Given the description of an element on the screen output the (x, y) to click on. 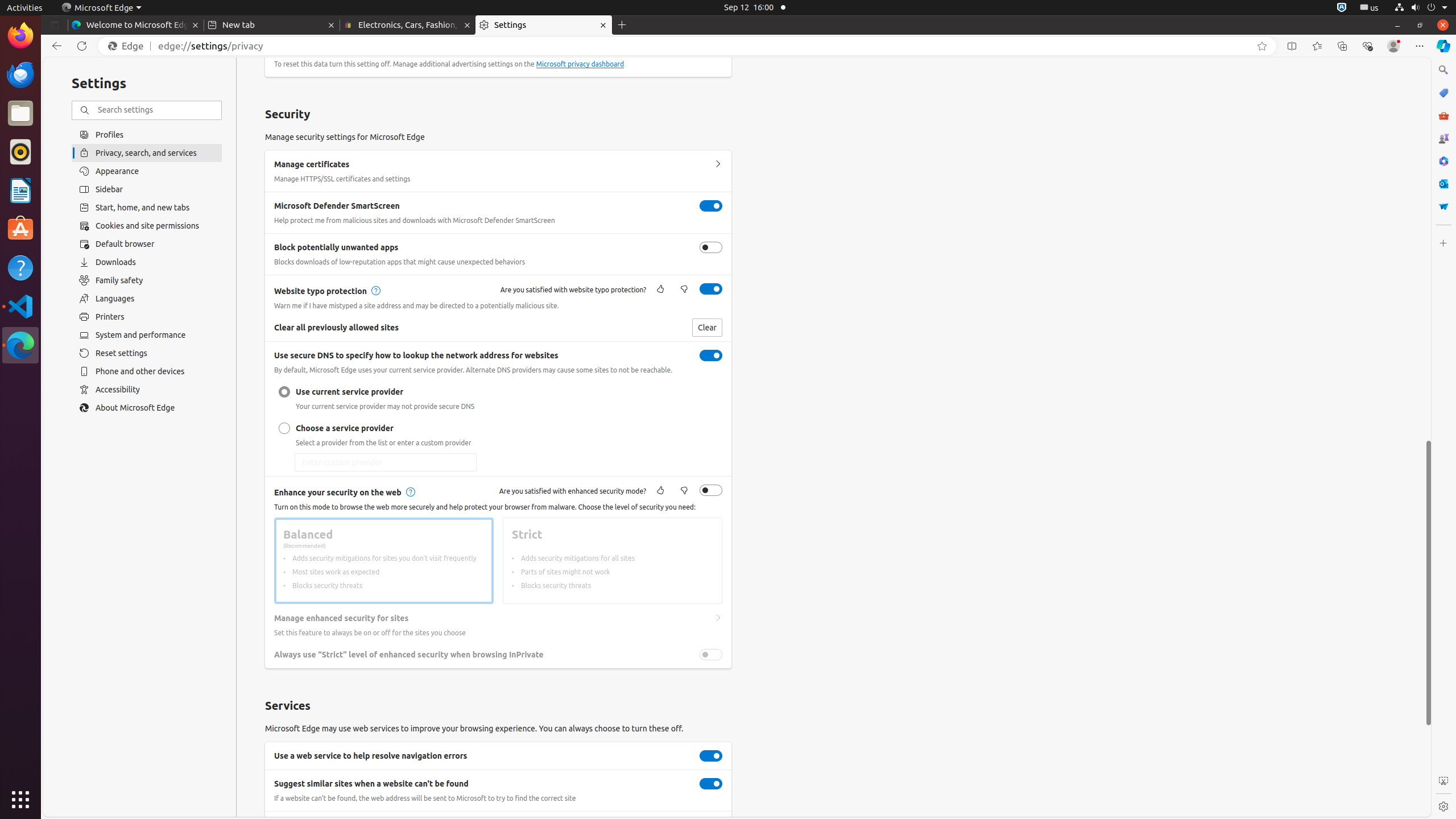
Show Applications Element type: toggle-button (20, 799)
Enter custom provider Element type: combo-box (385, 462)
Firefox Web Browser Element type: push-button (20, 35)
Microsoft 365 Element type: push-button (1443, 160)
Manage certificates Element type: push-button (717, 164)
